Given the description of an element on the screen output the (x, y) to click on. 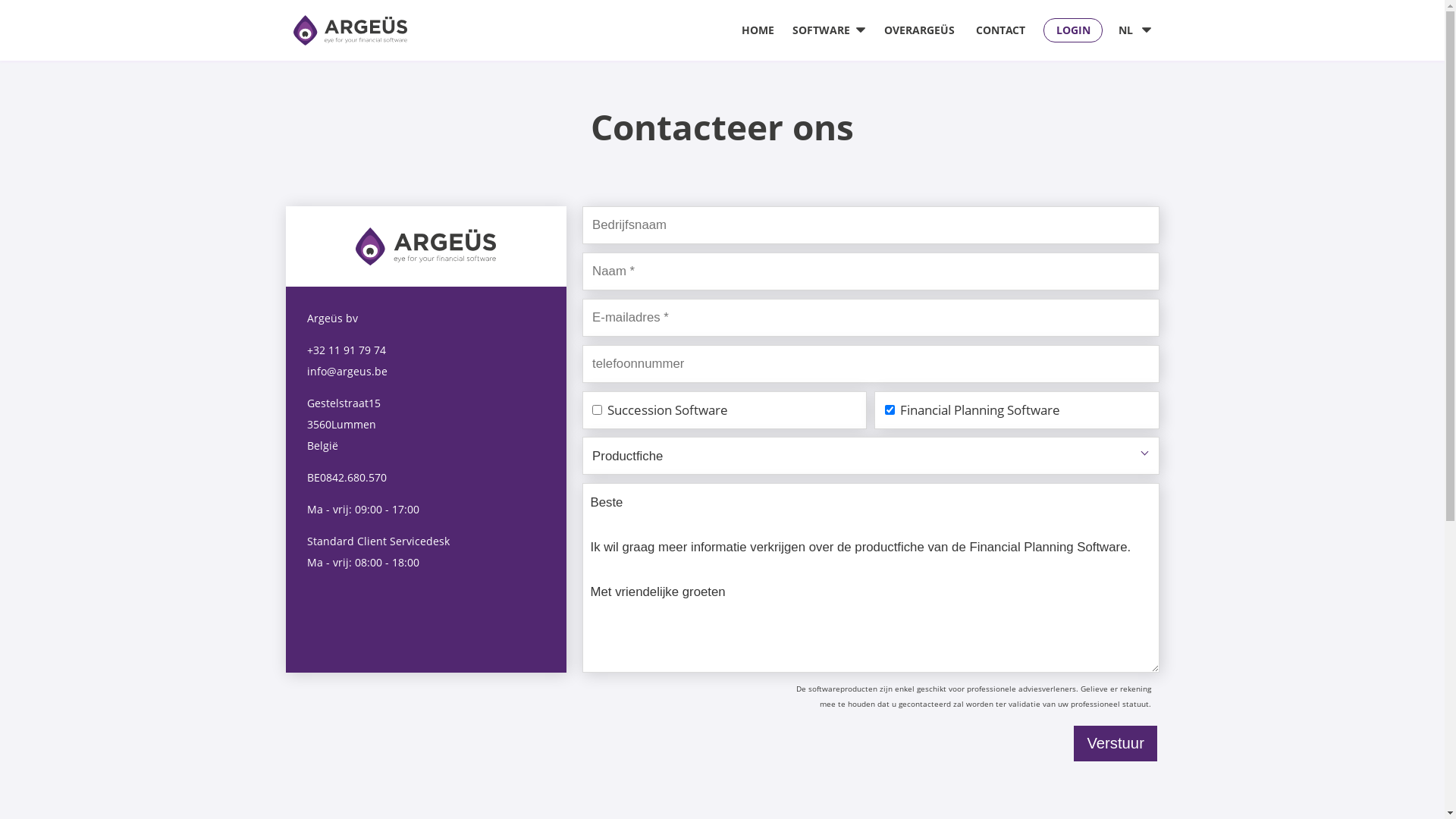
HOME Element type: text (757, 30)
info@argeus.be Element type: text (346, 371)
CONTACT Element type: text (1000, 30)
+32 11 91 79 74 Element type: text (345, 349)
Verstuur Element type: text (1115, 742)
LOGIN Element type: text (1072, 30)
